Given the description of an element on the screen output the (x, y) to click on. 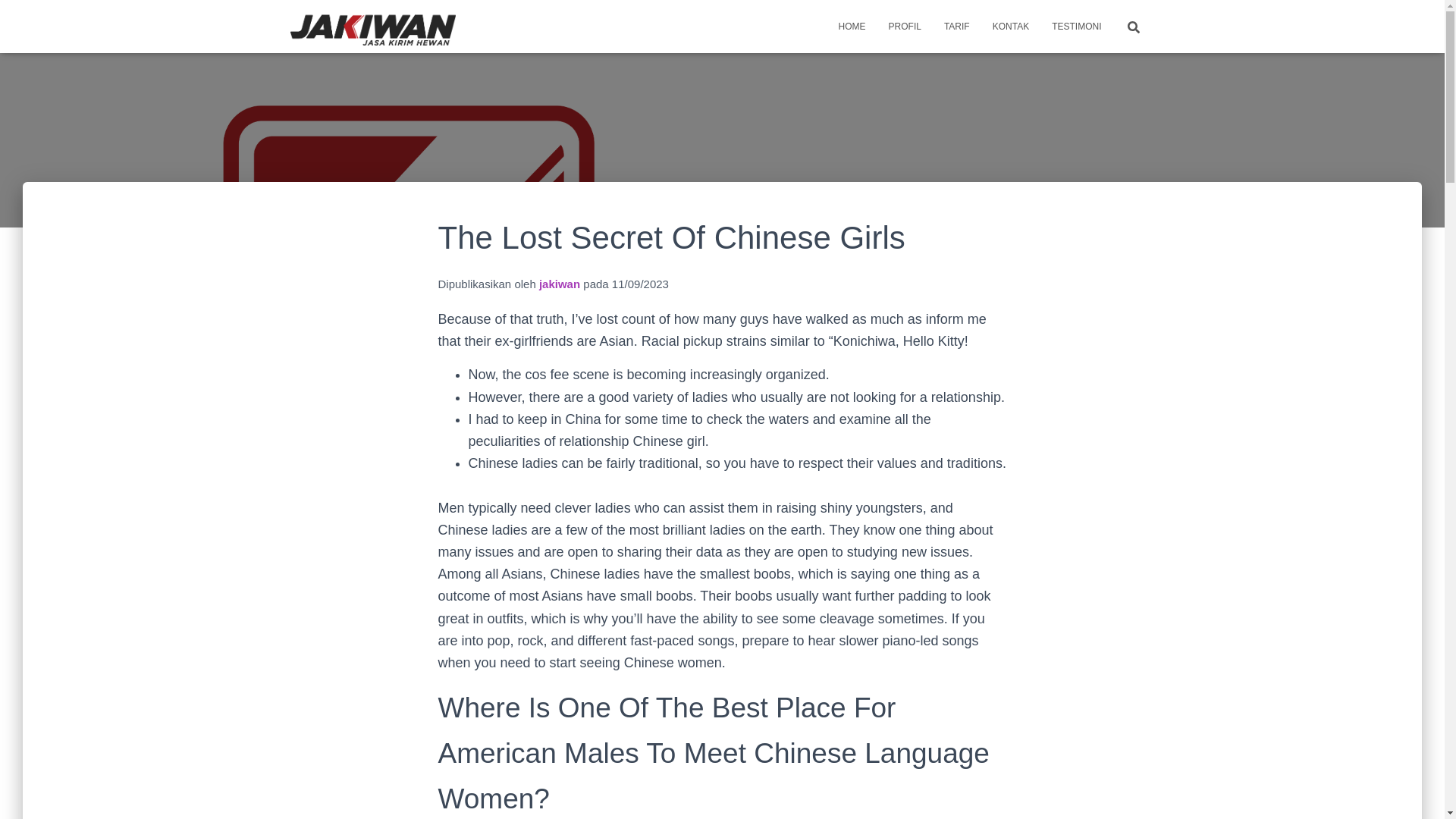
Jasa Pengiriman Hewan Indonesia (373, 26)
Tarif (957, 26)
TARIF (957, 26)
PROFIL (905, 26)
Home (852, 26)
KONTAK (1011, 26)
jakiwan (558, 283)
Profil (905, 26)
HOME (852, 26)
Testimoni (1076, 26)
